Given the description of an element on the screen output the (x, y) to click on. 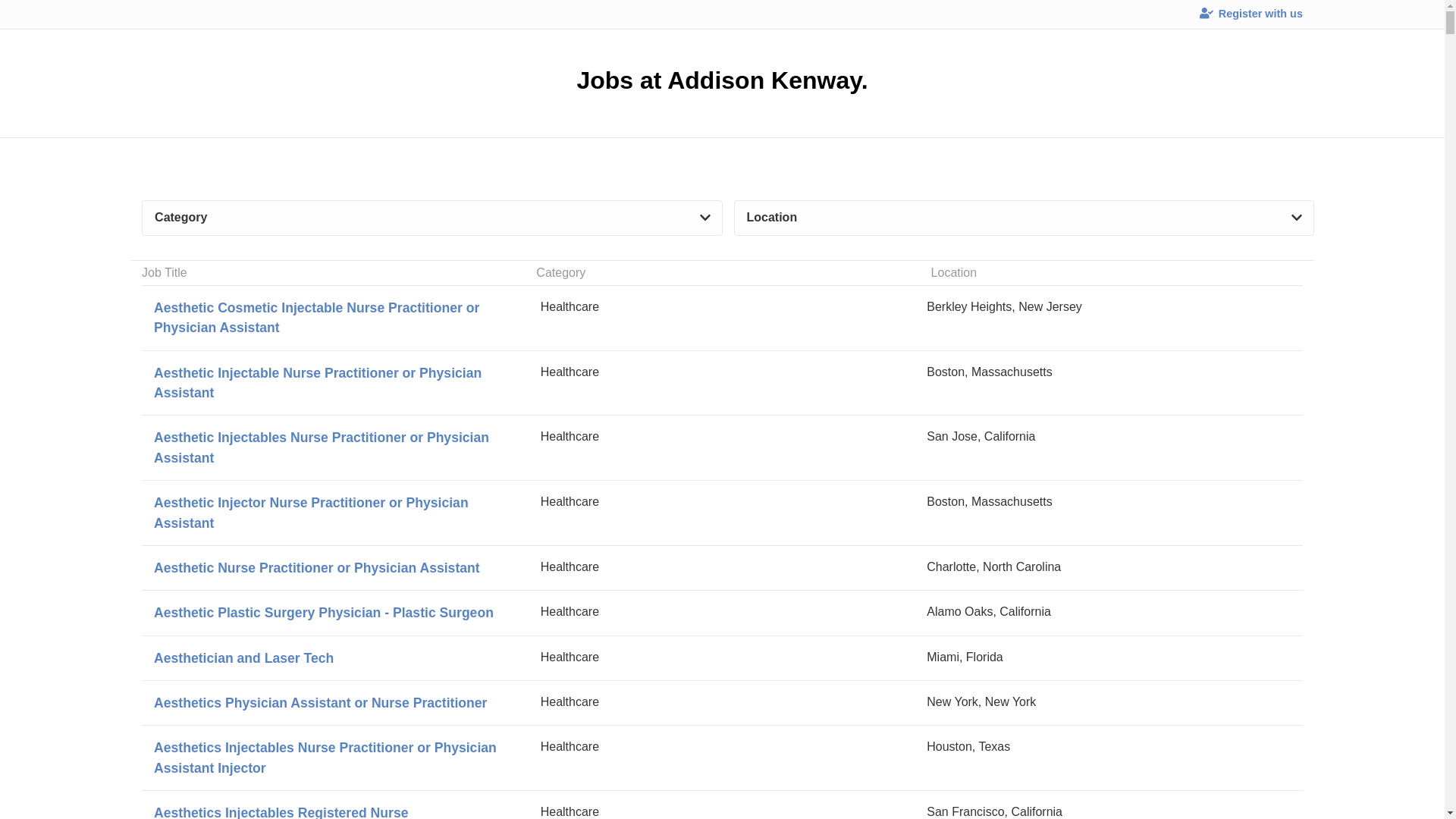
Category (431, 217)
Register with us (1251, 13)
Location (1023, 217)
